Given the description of an element on the screen output the (x, y) to click on. 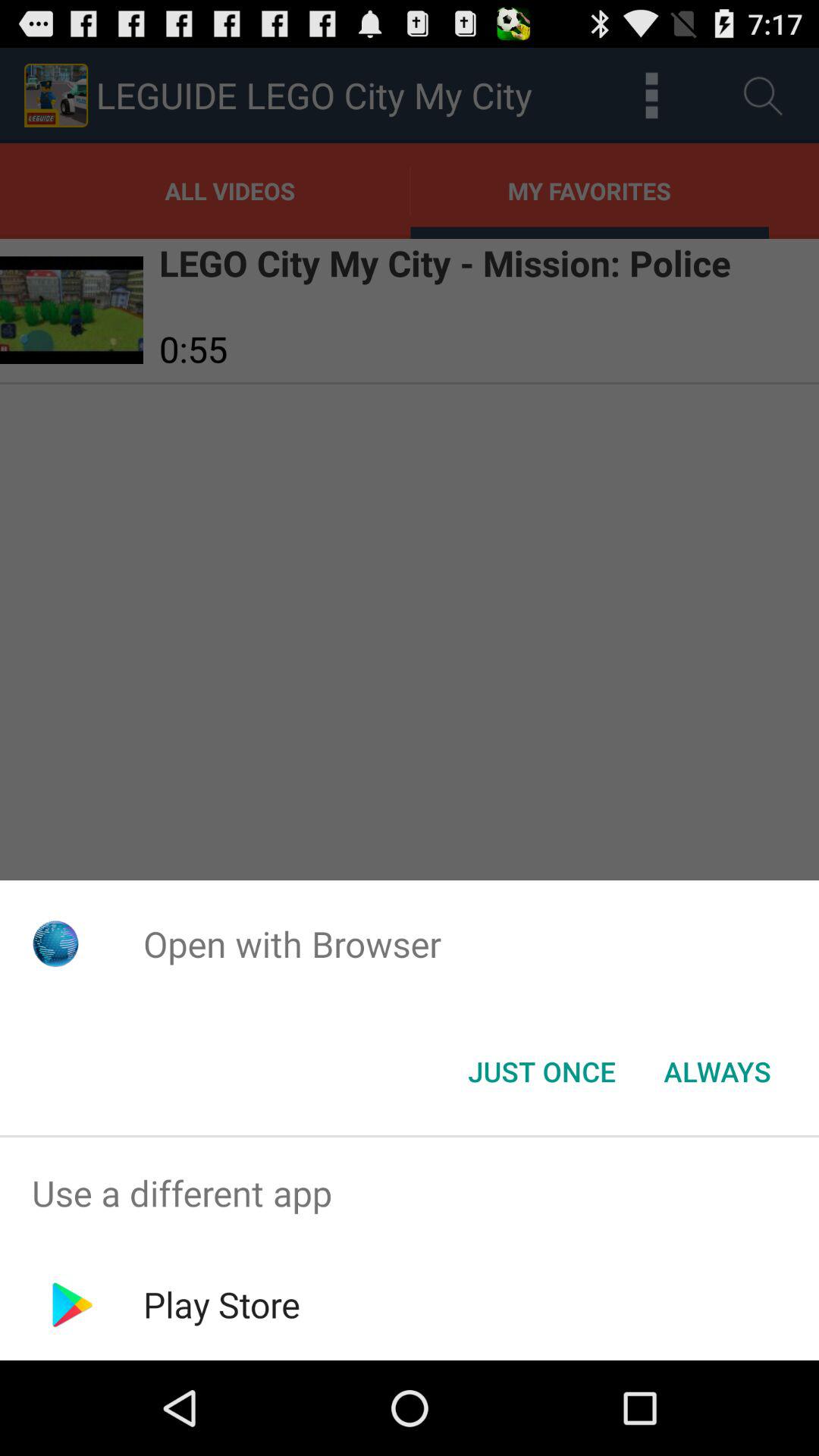
turn off item next to the just once item (717, 1071)
